Given the description of an element on the screen output the (x, y) to click on. 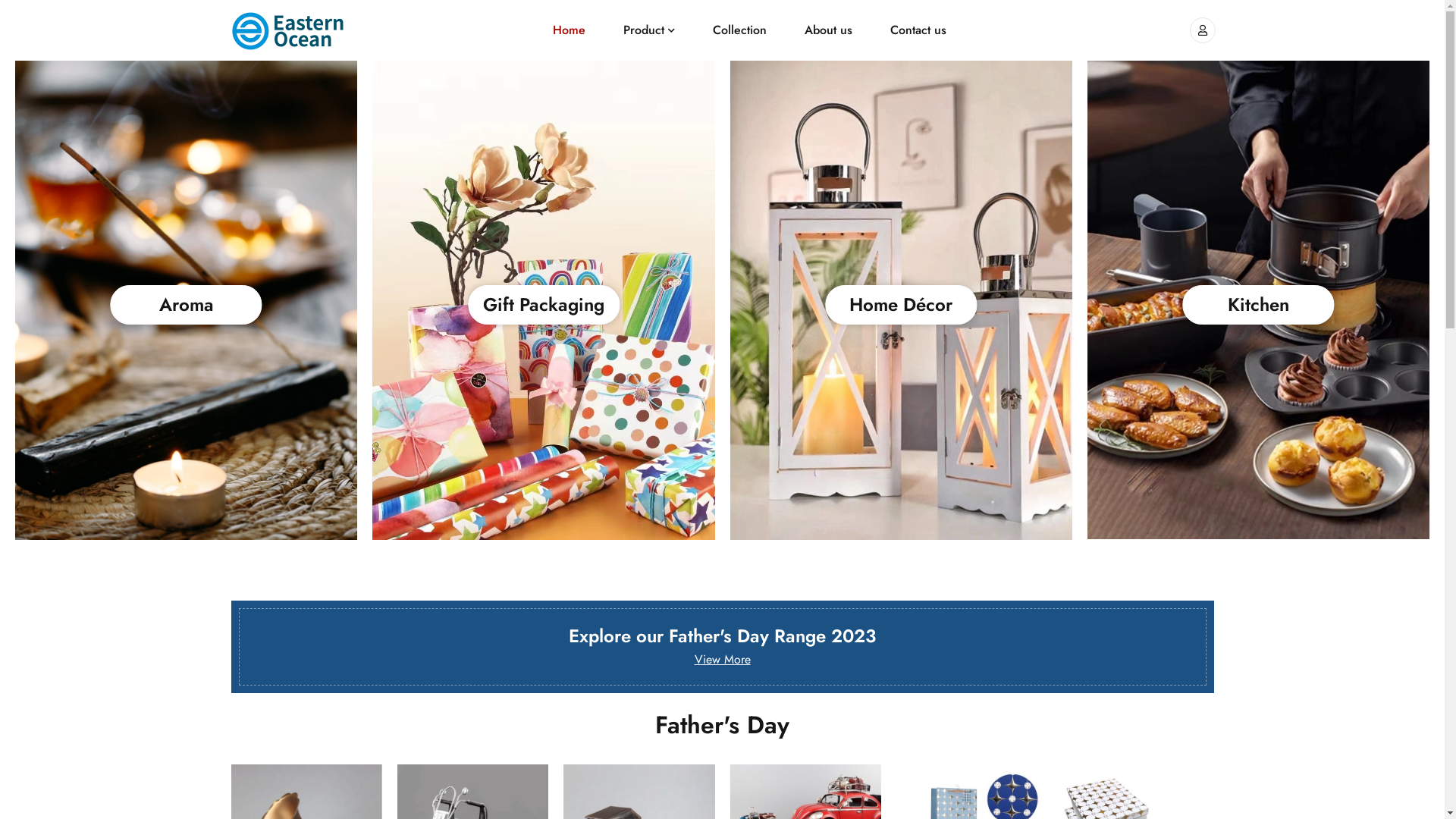
Home Element type: text (568, 30)
Gift Packaging Element type: text (543, 304)
Product Element type: text (648, 30)
Pepperi Log in Element type: hover (1201, 30)
Aroma Element type: text (186, 304)
Collection Element type: text (739, 30)
View More Element type: text (722, 659)
Kitchen Element type: text (1257, 304)
About us Element type: text (827, 30)
Eastern Ocean Element type: hover (287, 29)
Contact us Element type: text (918, 30)
